Given the description of an element on the screen output the (x, y) to click on. 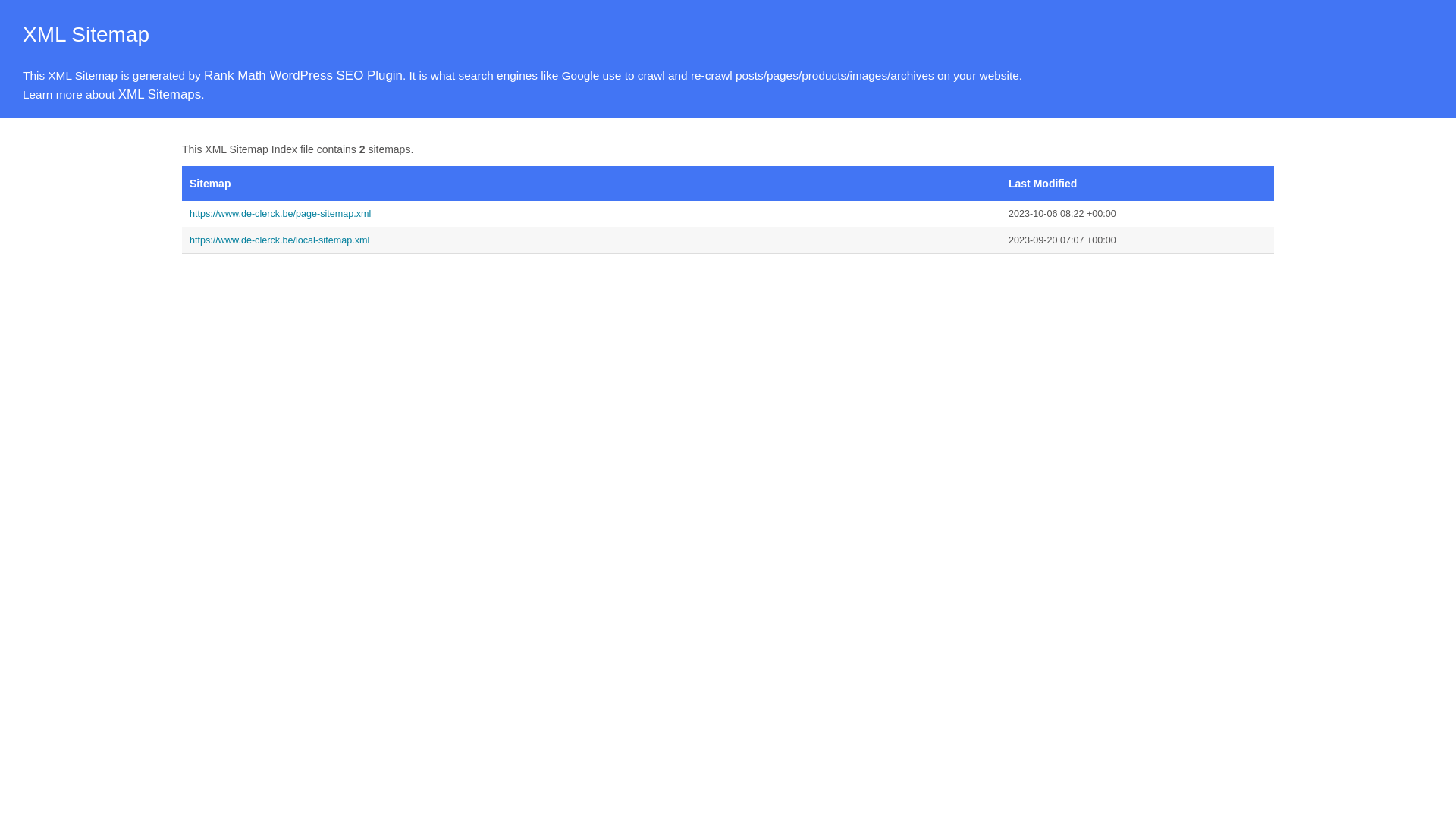
Rank Math WordPress SEO Plugin Element type: text (302, 75)
https://www.de-clerck.be/page-sitemap.xml Element type: text (591, 213)
https://www.de-clerck.be/local-sitemap.xml Element type: text (591, 240)
XML Sitemaps Element type: text (159, 94)
